Given the description of an element on the screen output the (x, y) to click on. 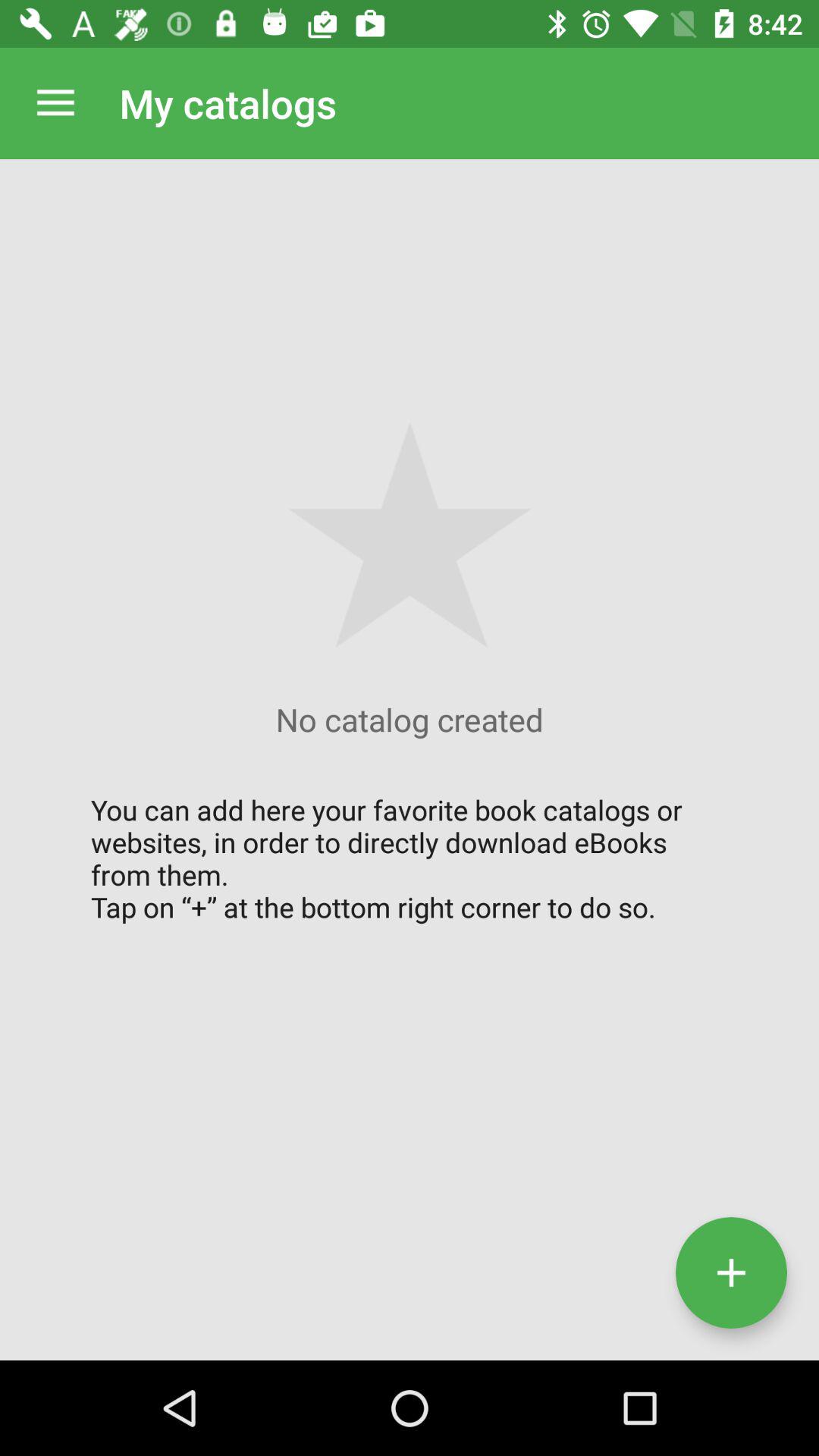
turn on the icon at the bottom right corner (731, 1272)
